Given the description of an element on the screen output the (x, y) to click on. 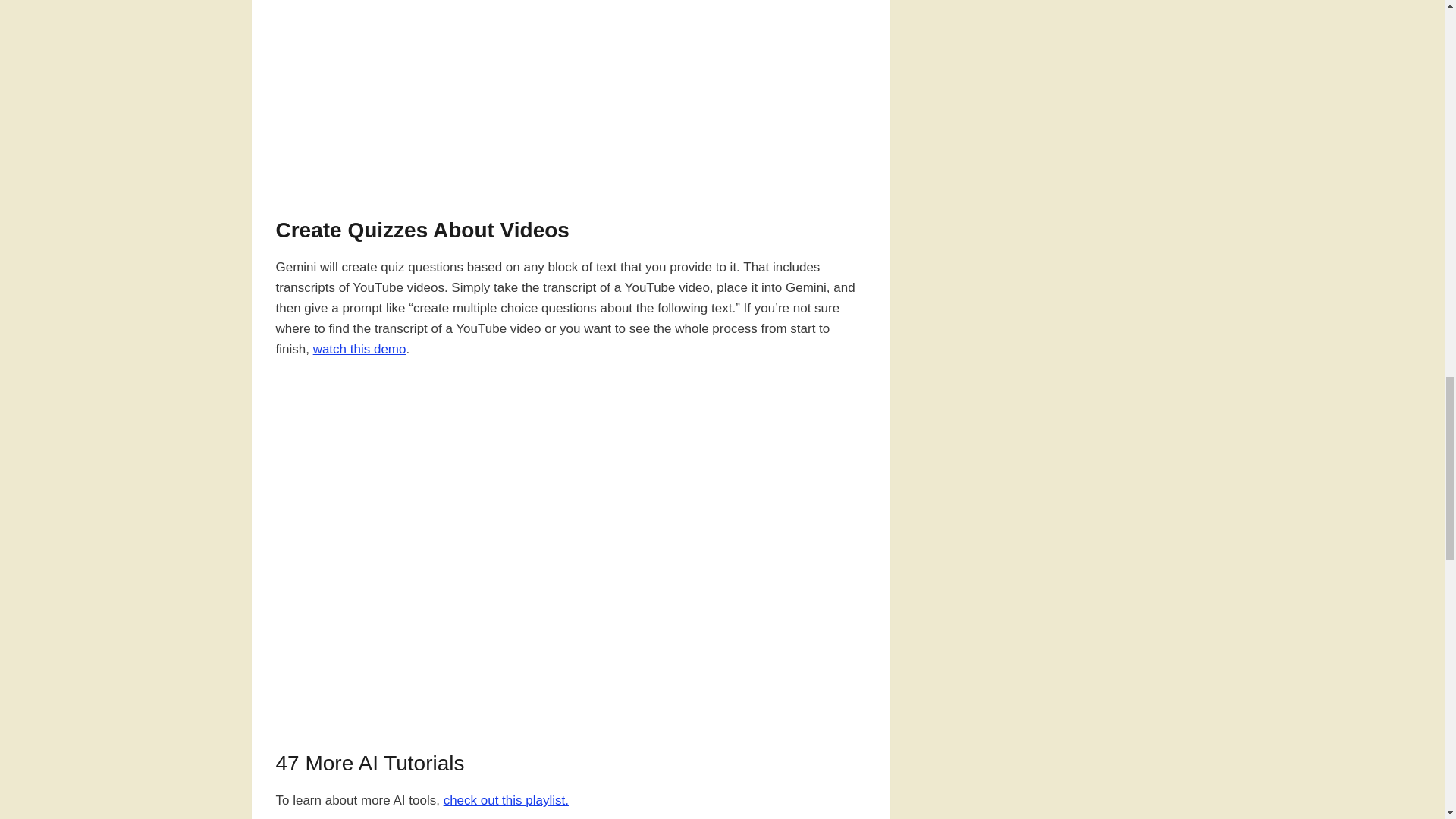
check out this playlist. (506, 800)
watch this demo (359, 349)
How to Use Google Gemini to Summarize a Video (571, 91)
